Given the description of an element on the screen output the (x, y) to click on. 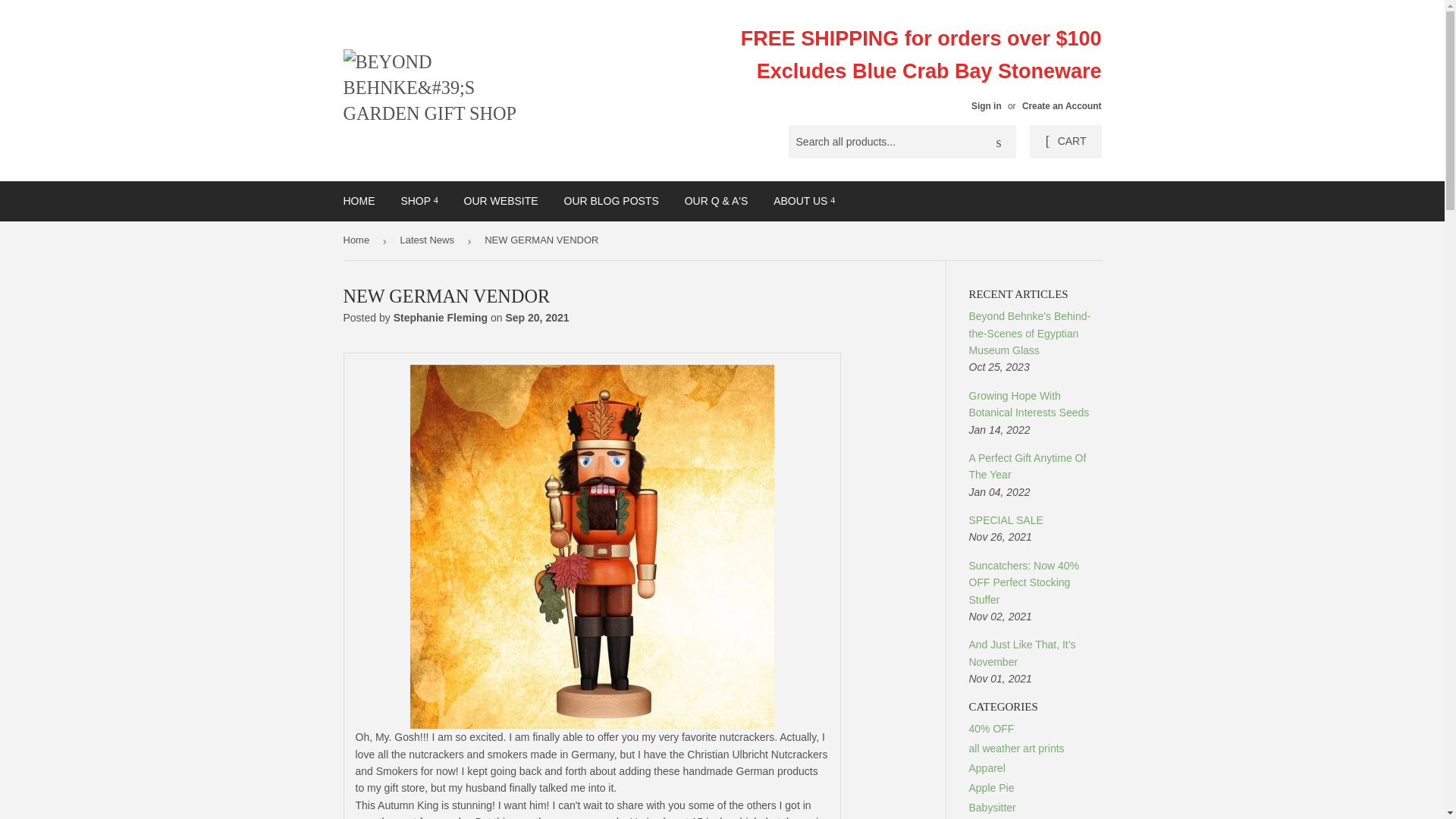
CART (1064, 141)
Show articles tagged Apparel (987, 767)
Show articles tagged Apple Pie (991, 787)
Search (998, 142)
Show articles tagged Babysitter (992, 807)
Sign in (986, 105)
Show articles tagged all weather art prints (1016, 748)
Create an Account (1062, 105)
